Given the description of an element on the screen output the (x, y) to click on. 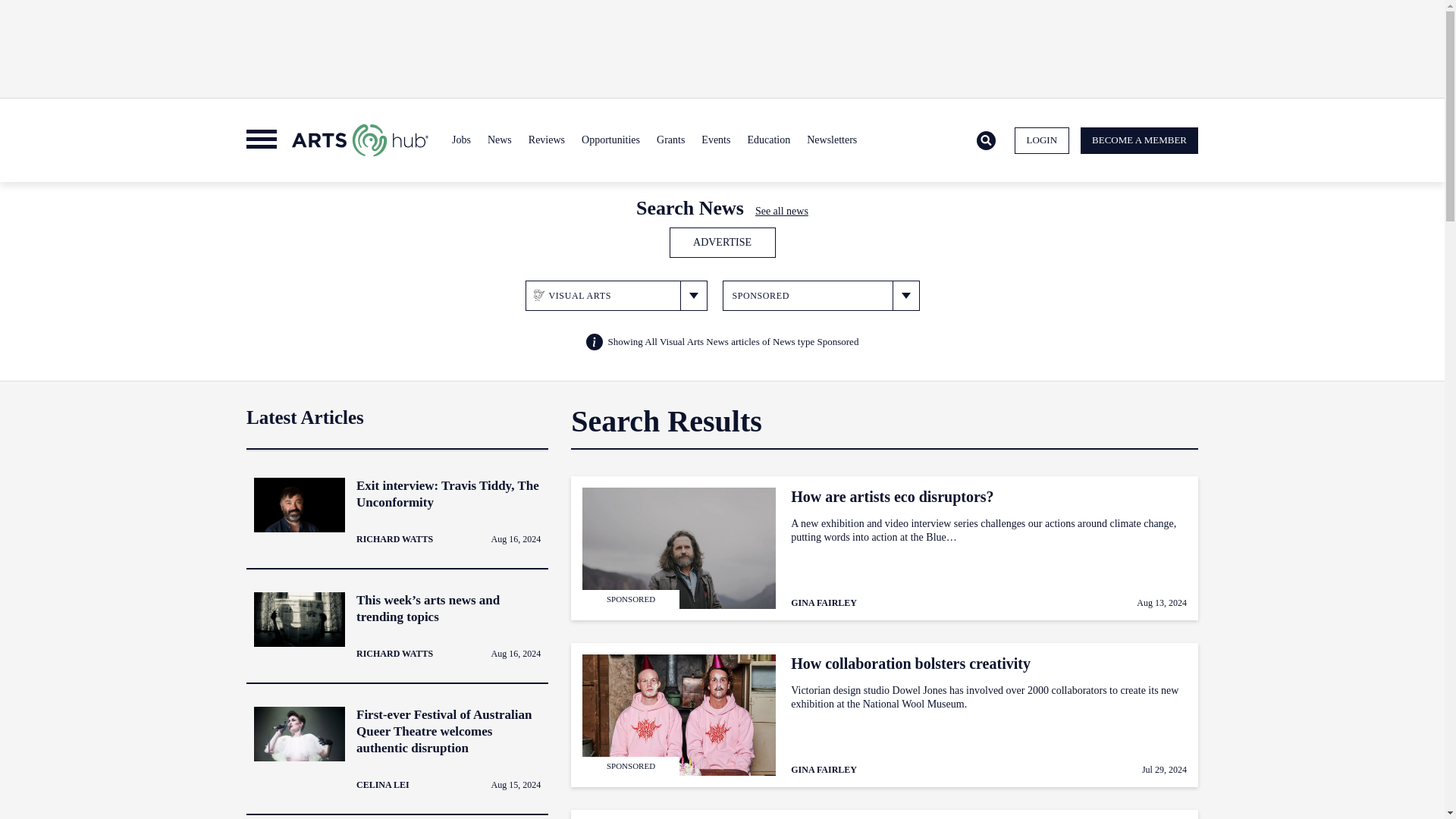
Search Icon (985, 139)
Opportunities (610, 139)
BECOME A MEMBER (1139, 140)
Search Icon (985, 140)
Newsletters (832, 139)
LOGIN (1041, 140)
Education (768, 139)
News (498, 139)
Reviews (546, 139)
Events (715, 139)
